Given the description of an element on the screen output the (x, y) to click on. 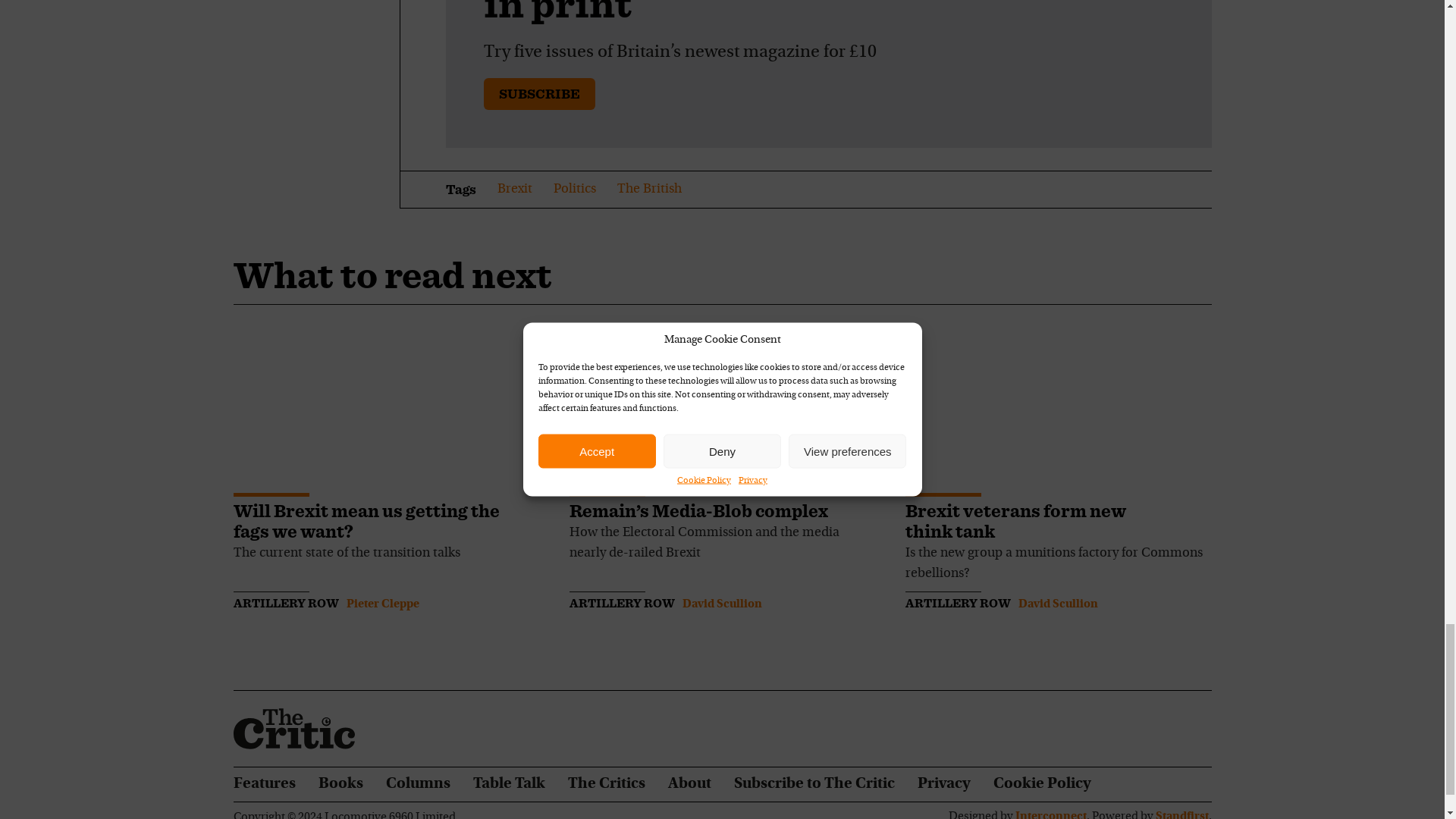
Posts by David Scullion (1057, 604)
Posts by David Scullion (721, 604)
Posts by Pieter Cleppe (382, 604)
